Given the description of an element on the screen output the (x, y) to click on. 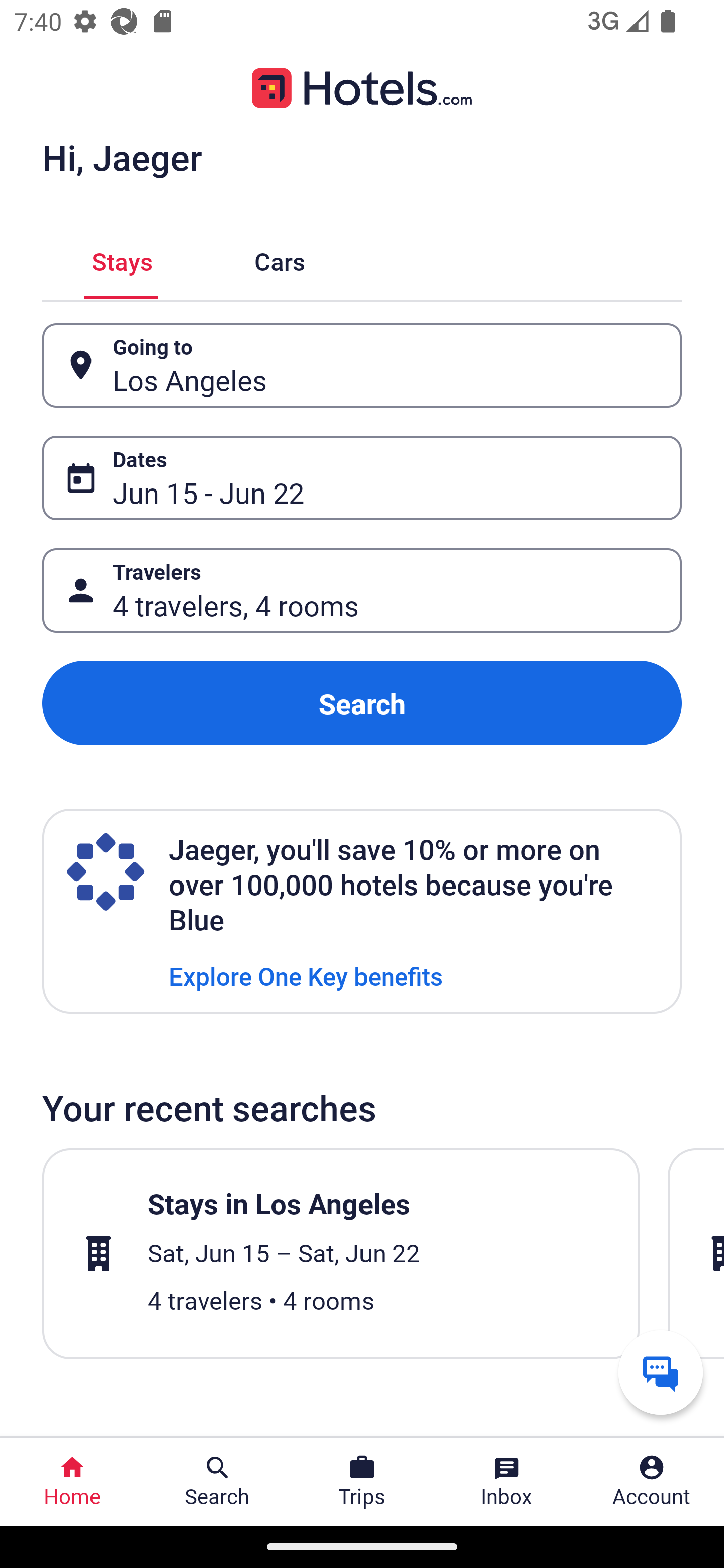
Hi, Jaeger (121, 156)
Cars (279, 259)
Going to Button Los Angeles (361, 365)
Dates Button Jun 15 - Jun 22 (361, 477)
Travelers Button 4 travelers, 4 rooms (361, 590)
Search (361, 702)
Get help from a virtual agent (660, 1371)
Search Search Button (216, 1481)
Trips Trips Button (361, 1481)
Inbox Inbox Button (506, 1481)
Account Profile. Button (651, 1481)
